Given the description of an element on the screen output the (x, y) to click on. 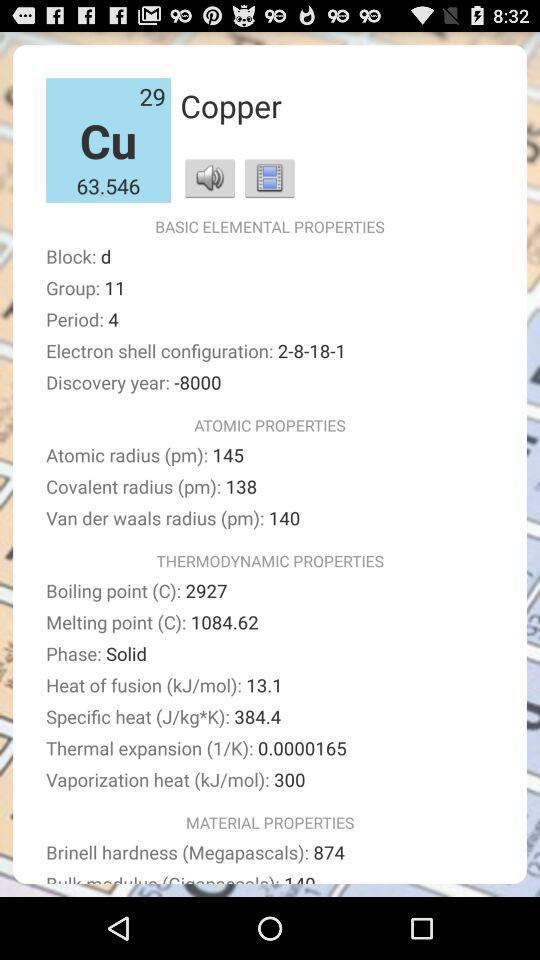
tap the app above the basic elemental properties (210, 177)
